Given the description of an element on the screen output the (x, y) to click on. 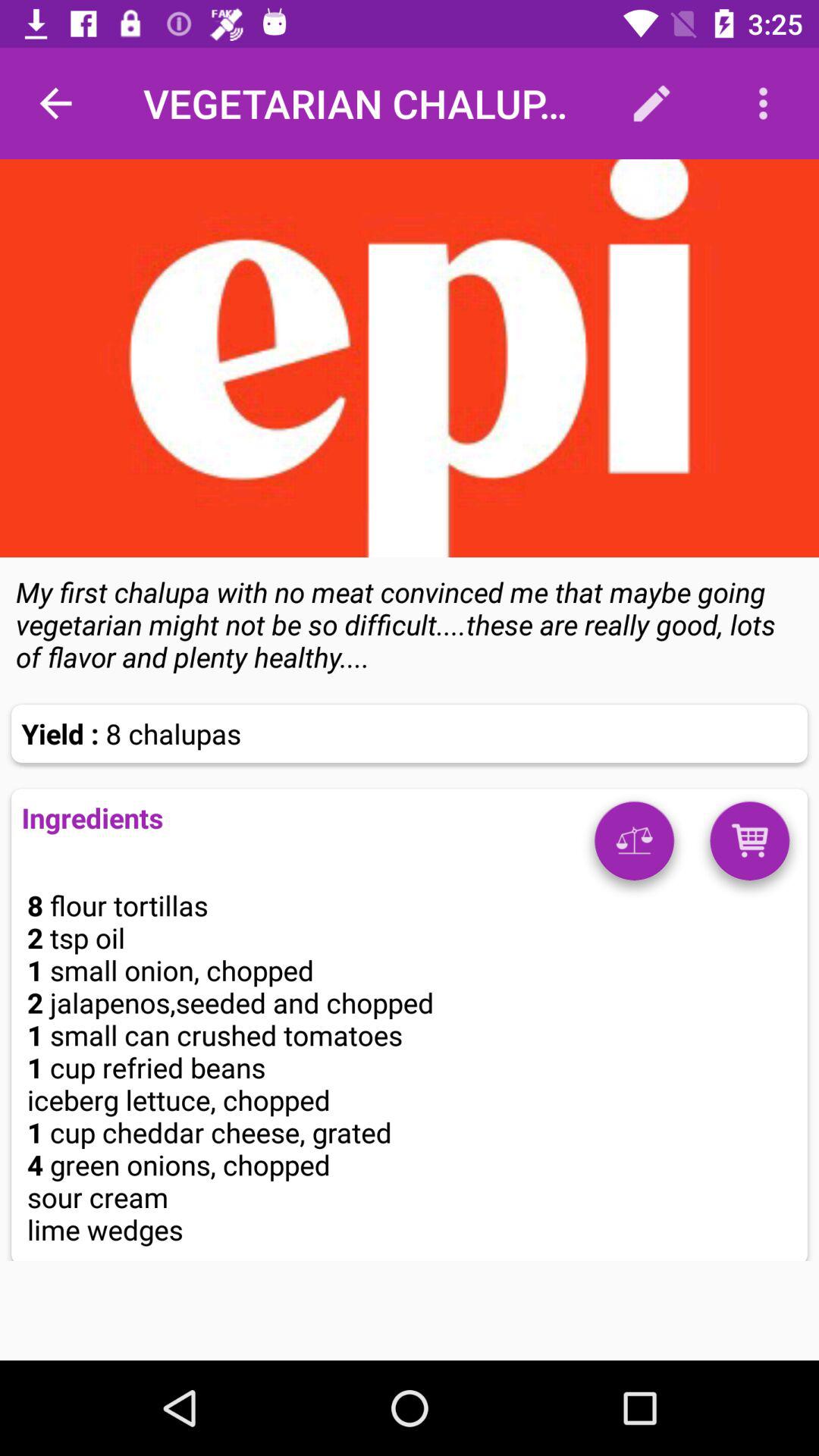
open shopping cart (749, 846)
